Given the description of an element on the screen output the (x, y) to click on. 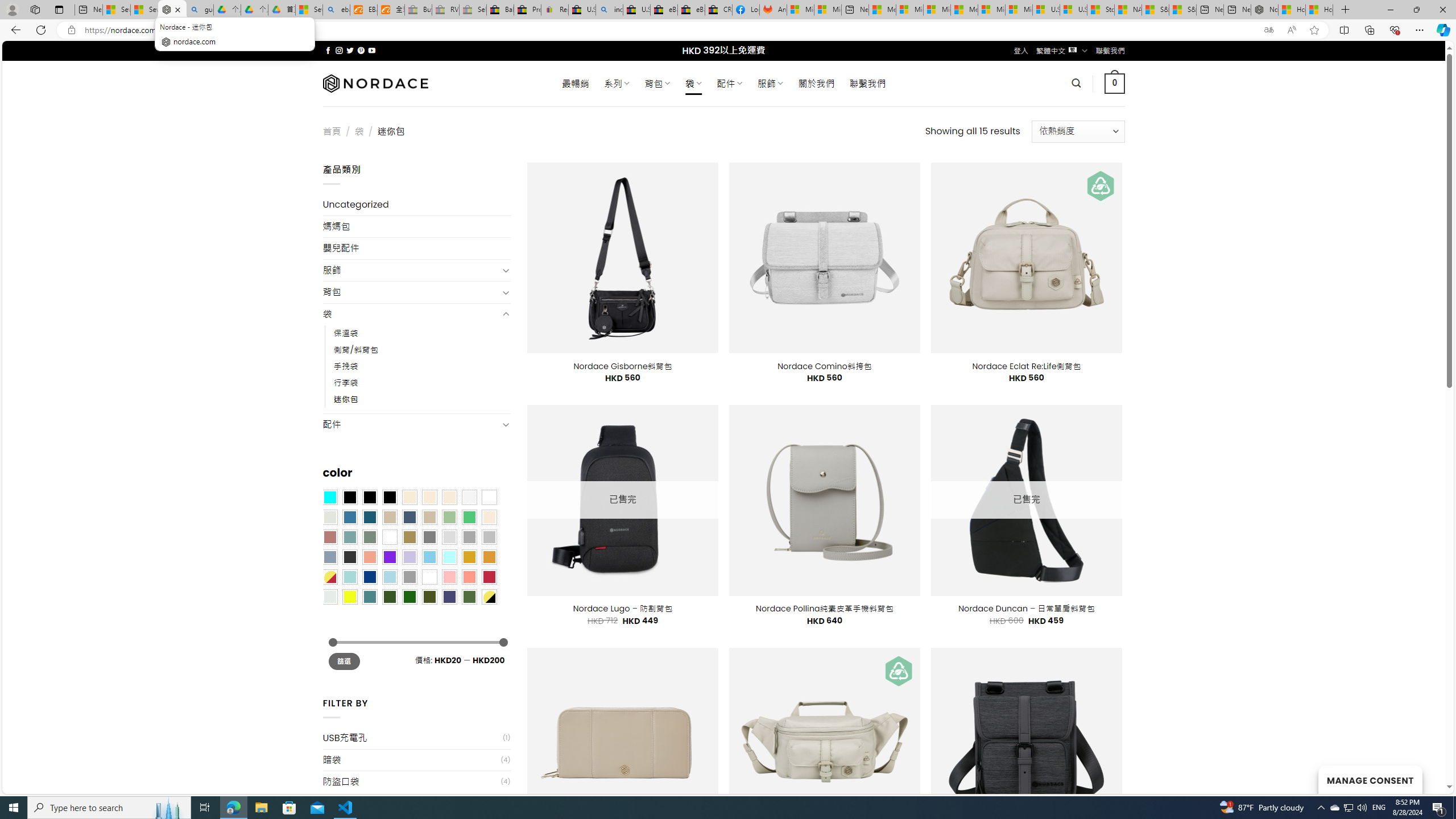
Follow on YouTube (371, 50)
